Given the description of an element on the screen output the (x, y) to click on. 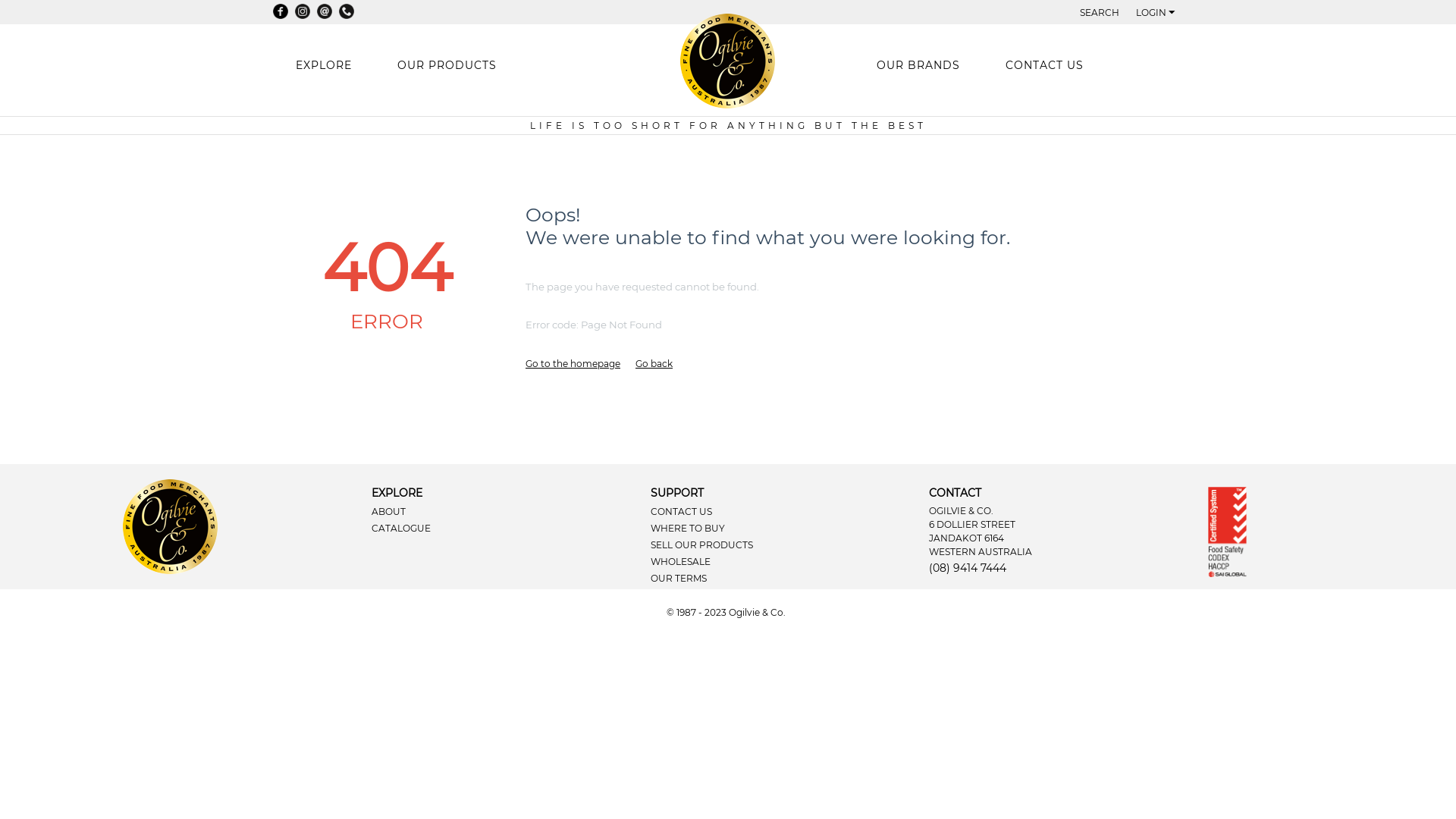
SEARCH Element type: text (1099, 12)
Contact Element type: hover (324, 9)
WHOLESALE Element type: text (680, 561)
Facebook Element type: hover (280, 9)
Go back Element type: text (653, 363)
OUR TERMS Element type: text (678, 577)
CONTACT US Element type: text (681, 511)
EXPLORE Element type: text (323, 65)
LOGIN Element type: text (1155, 12)
OUR PRODUCTS Element type: text (446, 65)
ABOUT Element type: text (388, 511)
Instagram Element type: hover (302, 9)
(08) 9414 7444 Element type: text (967, 568)
Go to the homepage Element type: text (572, 363)
SELL OUR PRODUCTS Element type: text (701, 544)
Ogilvie & Co. - Gourmet Food Australia Element type: hover (727, 60)
WHERE TO BUY Element type: text (687, 527)
CATALOGUE Element type: text (400, 527)
CONTACT US Element type: text (1044, 65)
Phone Element type: hover (346, 9)
OUR BRANDS Element type: text (917, 65)
Ogilvie & Co. - Gourmet Food Australia Element type: hover (170, 526)
